Given the description of an element on the screen output the (x, y) to click on. 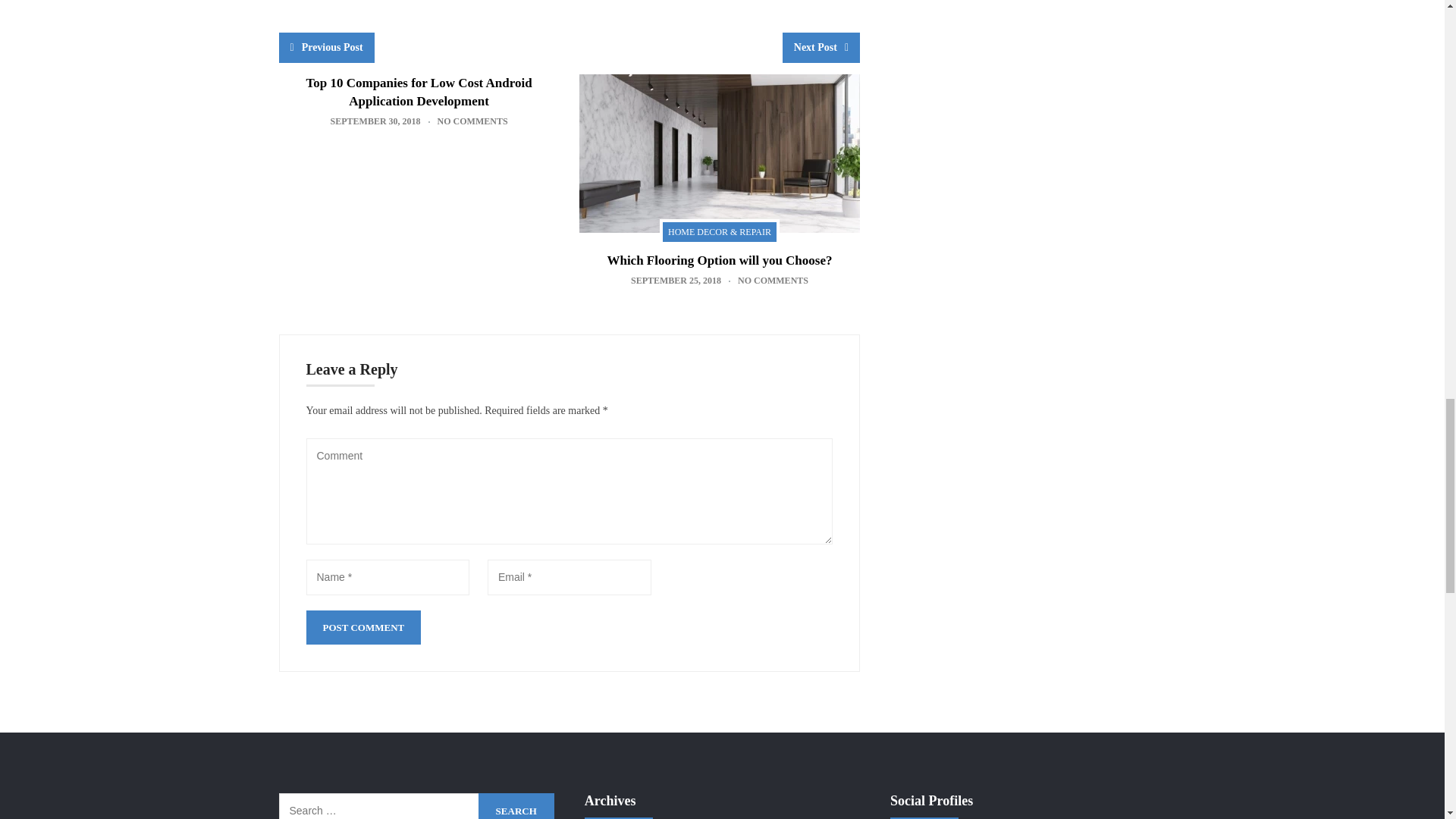
Next Post (821, 47)
Post Comment (363, 627)
Previous Post (326, 47)
Search (516, 806)
Post Comment (363, 627)
NO COMMENTS (773, 280)
Which Flooring Option will you Choose? (719, 260)
Search (516, 806)
NO COMMENTS (473, 121)
